Given the description of an element on the screen output the (x, y) to click on. 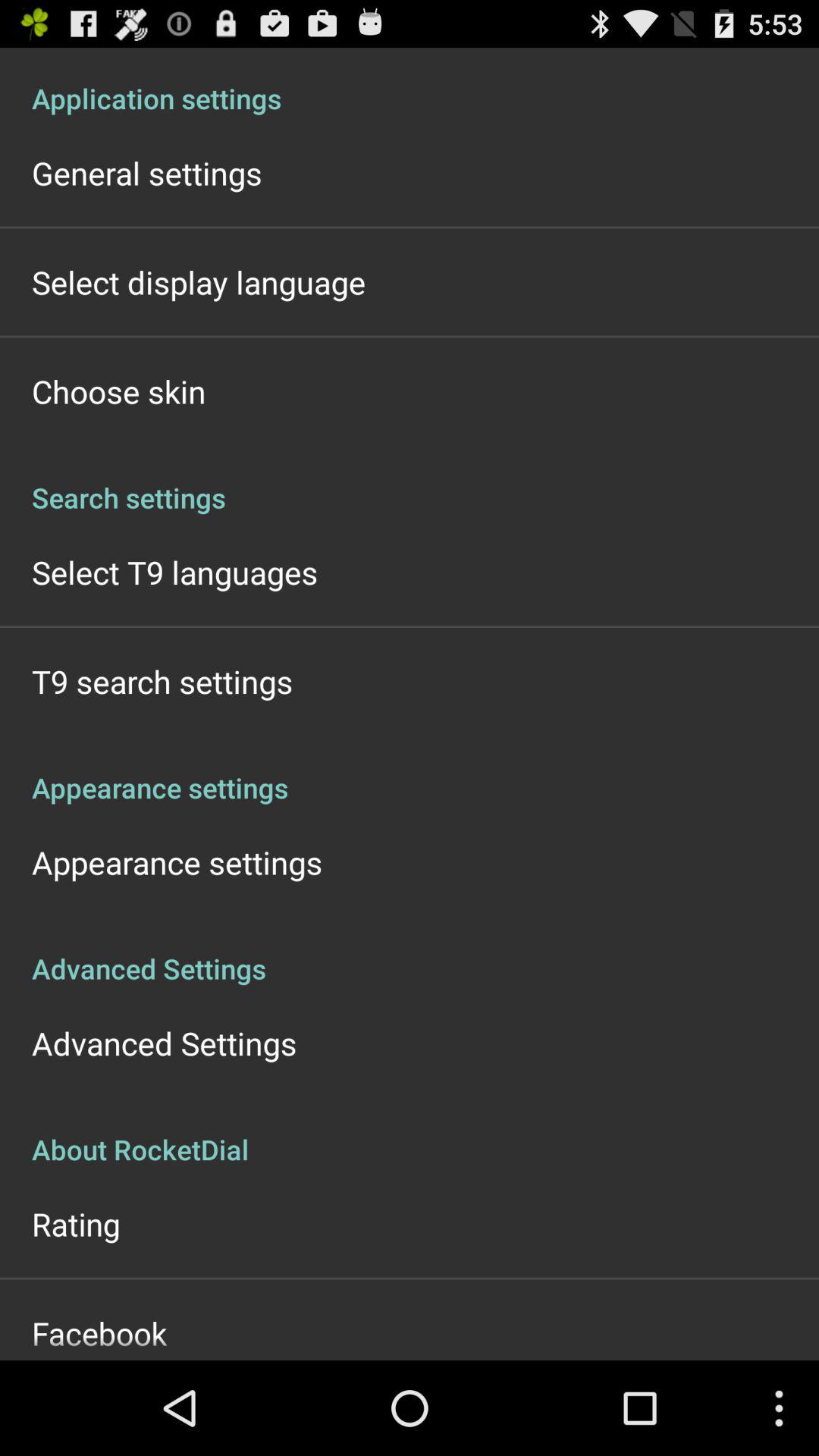
choose item above the t9 search settings (174, 571)
